Given the description of an element on the screen output the (x, y) to click on. 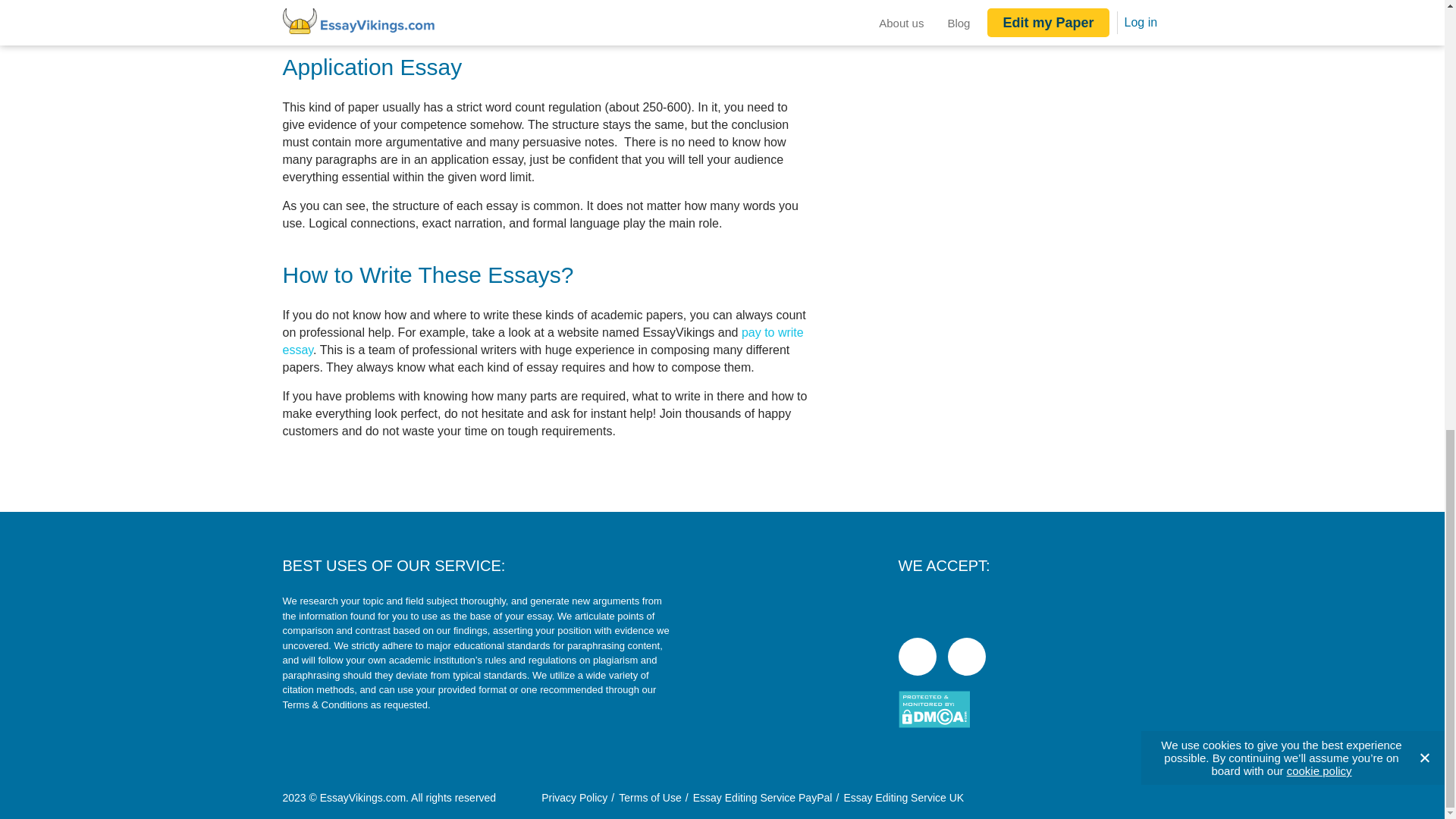
Privacy Policy (574, 797)
Essay Editing Service UK (903, 797)
DMCA.com Protection Status (1014, 711)
Essay Editing Service PayPal (762, 797)
pay to write essay (542, 340)
Terms of Use (649, 797)
